Given the description of an element on the screen output the (x, y) to click on. 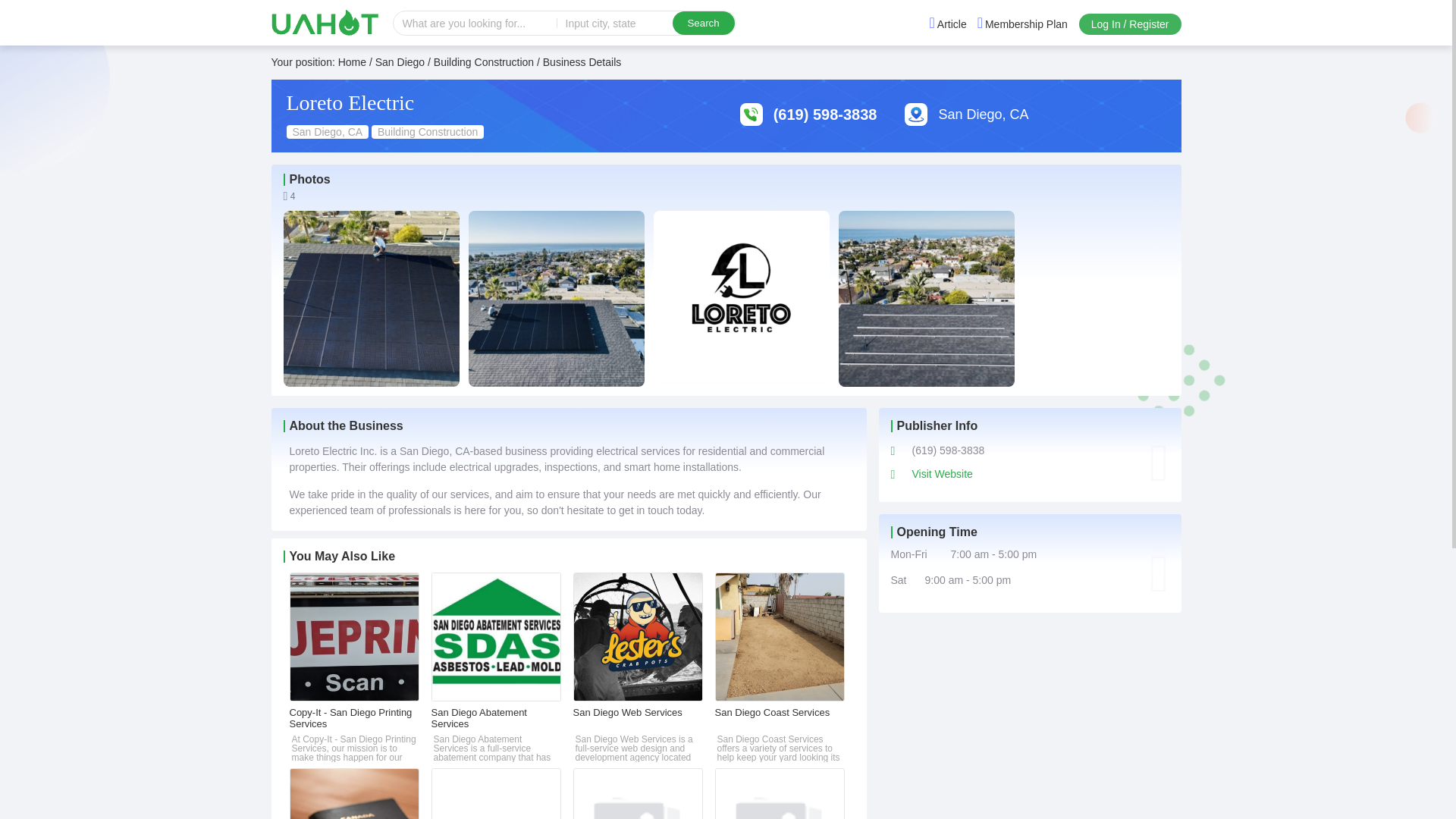
San Diego Electric Company (779, 793)
Article (948, 24)
uahot.com (324, 22)
Business Services In San Diego (400, 61)
Home (351, 61)
San Diego Flood Services (638, 793)
San Diego Door Services (495, 793)
San Diego Immigration Services (354, 793)
Building Construction (483, 61)
Building Construction (483, 61)
San Diego (400, 61)
Visit Website (941, 473)
Membership Plan (1021, 24)
